Given the description of an element on the screen output the (x, y) to click on. 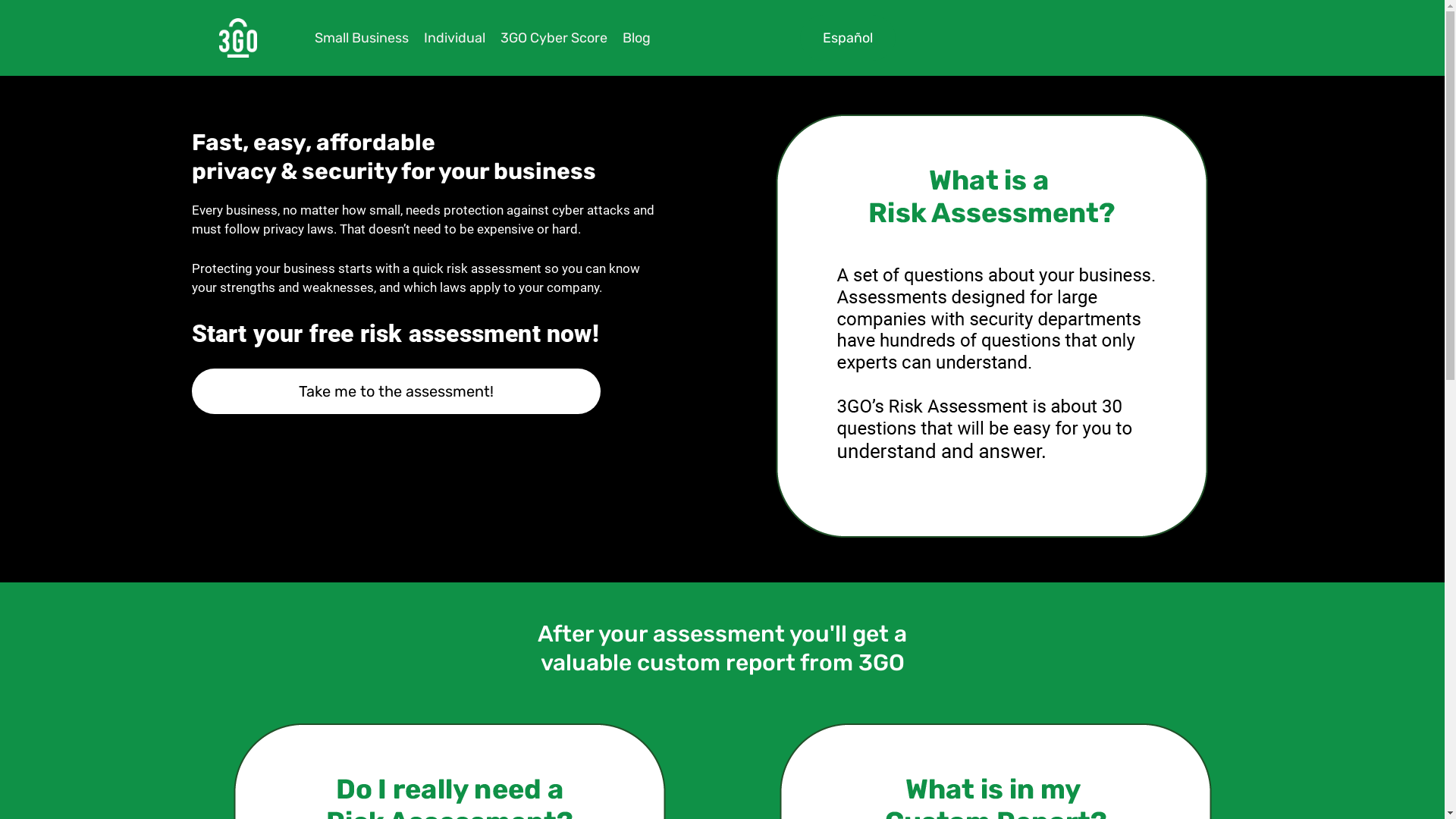
Small Business Element type: text (361, 37)
Blog Element type: text (636, 37)
3GO Cyber Score Element type: text (553, 37)
Individual Element type: text (454, 37)
Take me to the assessment! Element type: text (395, 391)
3GO_Logo_White Element type: hover (238, 37)
